Given the description of an element on the screen output the (x, y) to click on. 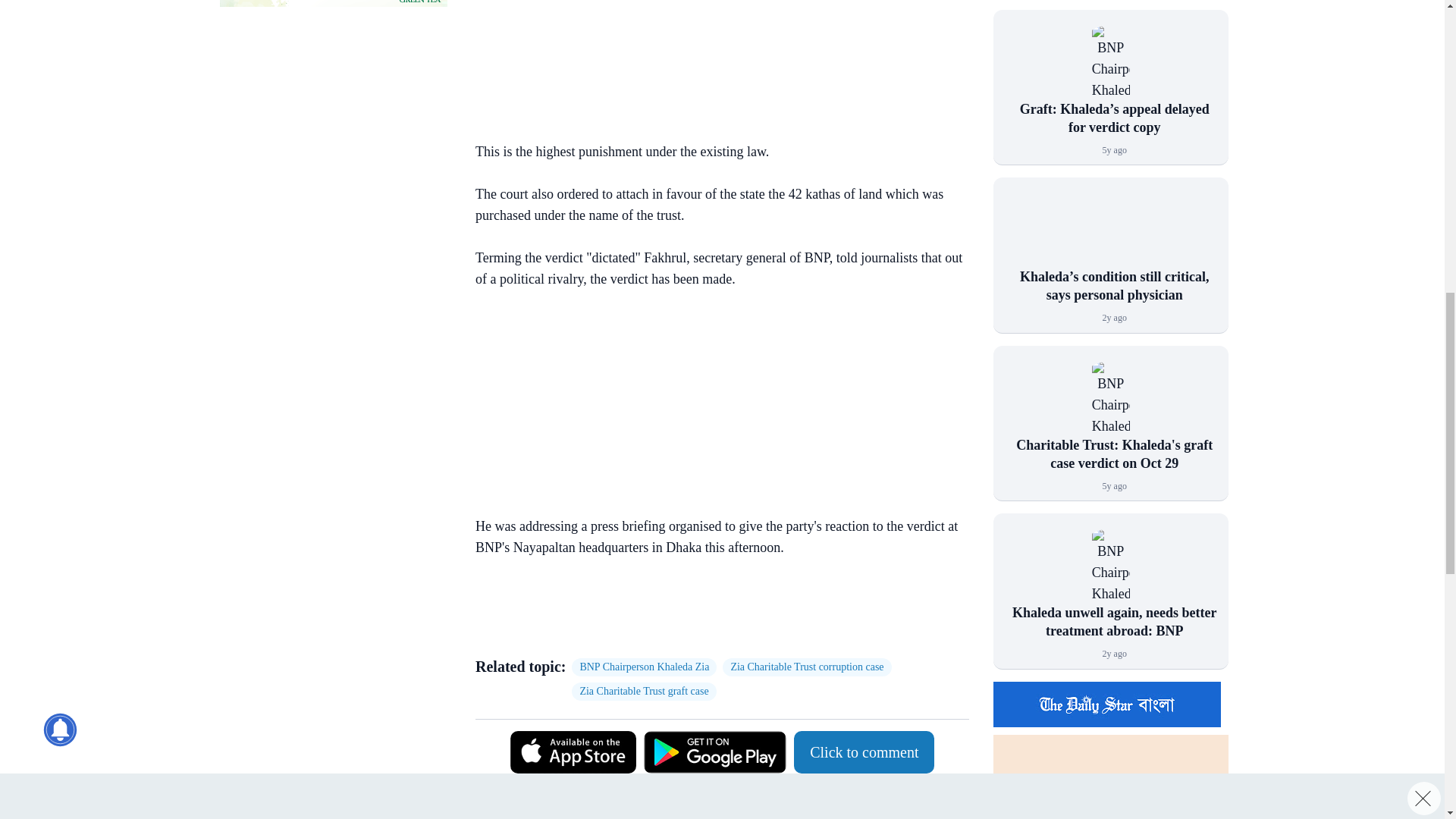
3rd party ad content (713, 63)
3rd party ad content (332, 116)
3rd party ad content (332, 3)
3rd party ad content (714, 609)
3rd party ad content (713, 405)
